Given the description of an element on the screen output the (x, y) to click on. 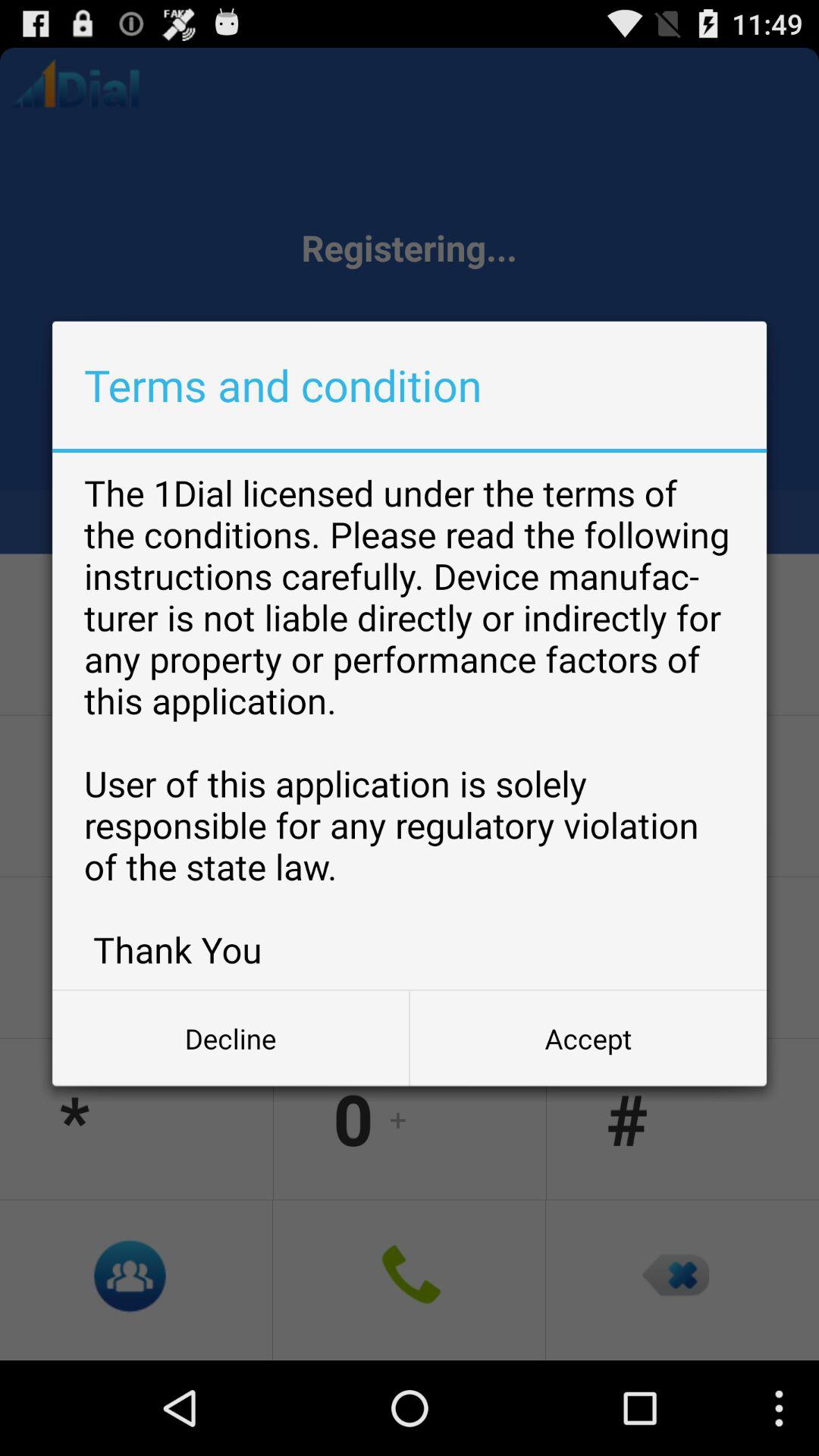
launch the item below the 1dial licensed (588, 1038)
